Given the description of an element on the screen output the (x, y) to click on. 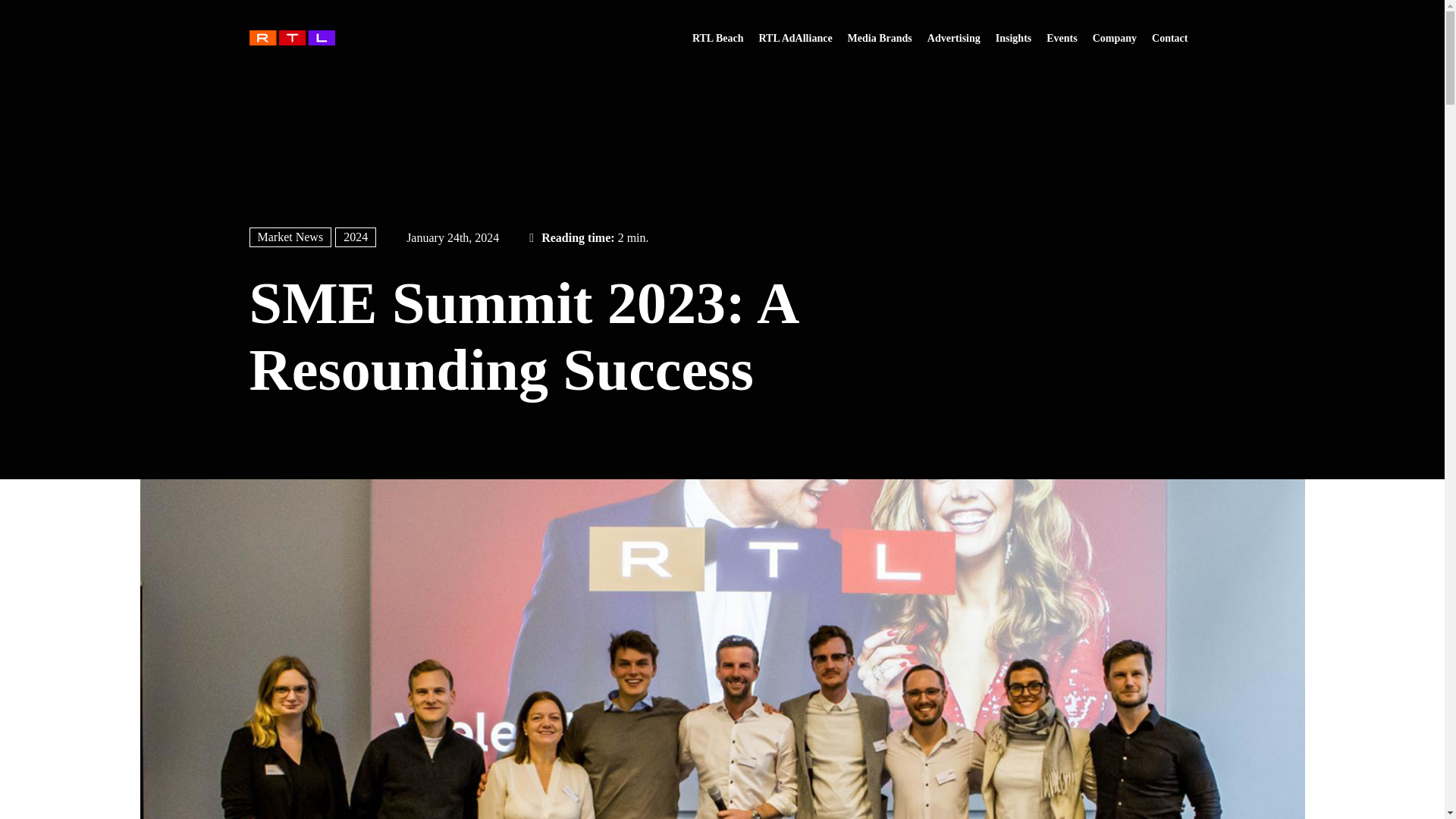
Insights (1013, 38)
RTL Beach (717, 38)
Contact (1169, 38)
RTL AdAlliance (291, 37)
Advertising (954, 38)
Company (1114, 38)
Media Brands (880, 38)
RTL AdAlliance (795, 38)
Events (1061, 38)
